Given the description of an element on the screen output the (x, y) to click on. 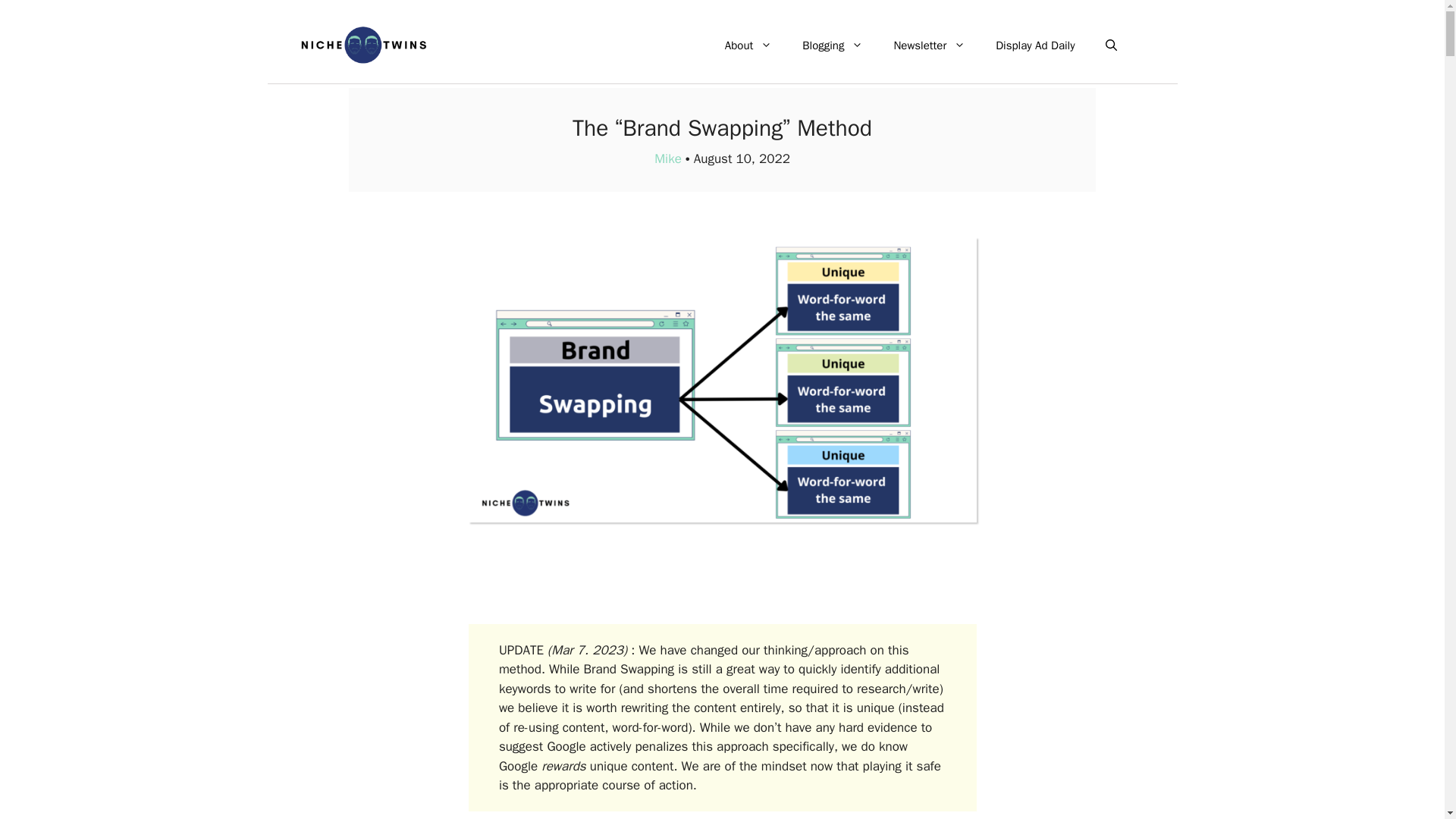
Blogging (832, 44)
Newsletter (928, 44)
Mike (667, 158)
Display Ad Daily (1034, 44)
About (748, 44)
